Given the description of an element on the screen output the (x, y) to click on. 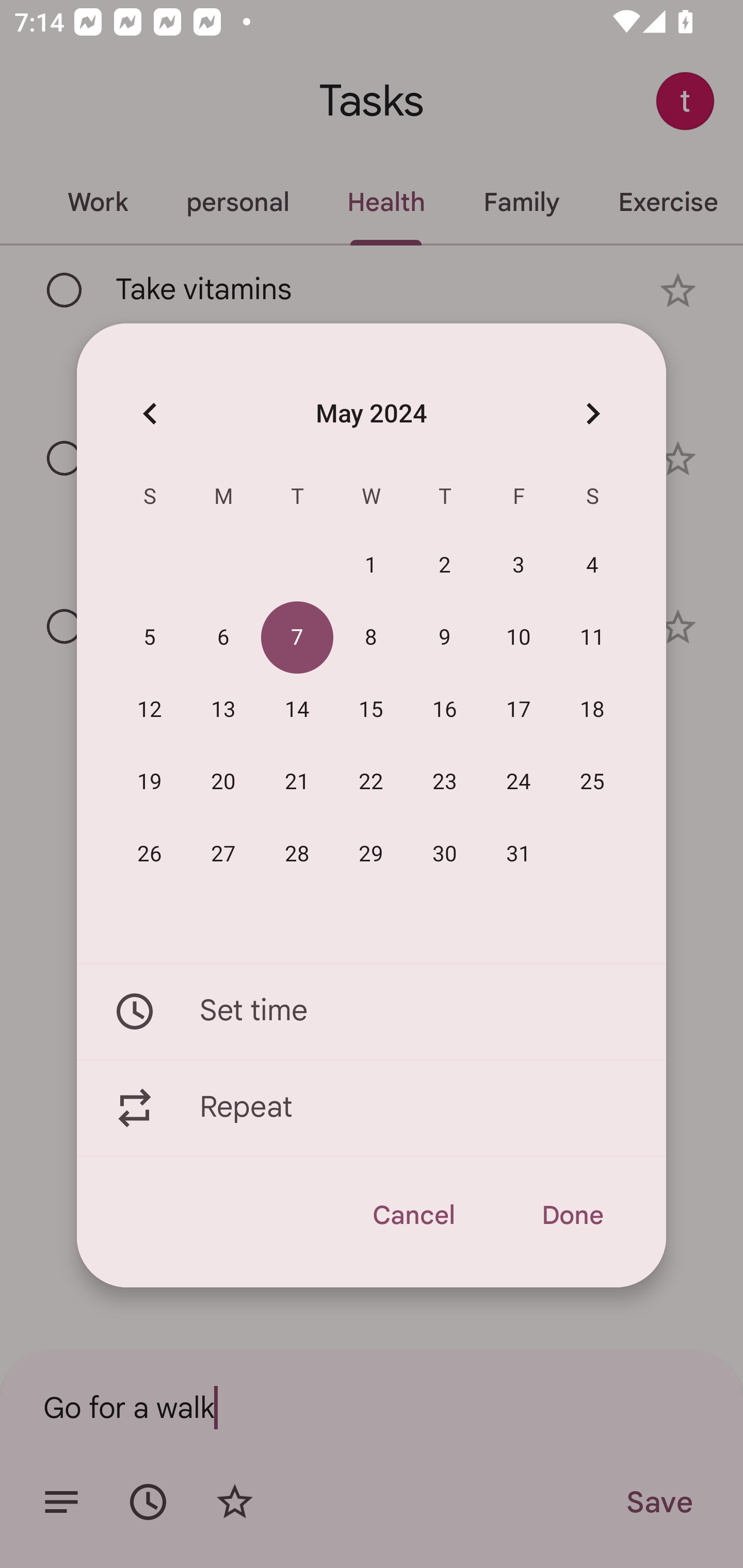
Previous month (149, 413)
Next month (592, 413)
1 01 May 2024 (370, 565)
2 02 May 2024 (444, 565)
3 03 May 2024 (518, 565)
4 04 May 2024 (592, 565)
5 05 May 2024 (149, 638)
6 06 May 2024 (223, 638)
7 07 May 2024 (297, 638)
8 08 May 2024 (370, 638)
9 09 May 2024 (444, 638)
10 10 May 2024 (518, 638)
11 11 May 2024 (592, 638)
12 12 May 2024 (149, 710)
13 13 May 2024 (223, 710)
14 14 May 2024 (297, 710)
15 15 May 2024 (370, 710)
16 16 May 2024 (444, 710)
17 17 May 2024 (518, 710)
18 18 May 2024 (592, 710)
19 19 May 2024 (149, 782)
20 20 May 2024 (223, 782)
21 21 May 2024 (297, 782)
22 22 May 2024 (370, 782)
23 23 May 2024 (444, 782)
24 24 May 2024 (518, 782)
25 25 May 2024 (592, 782)
26 26 May 2024 (149, 854)
27 27 May 2024 (223, 854)
28 28 May 2024 (297, 854)
29 29 May 2024 (370, 854)
30 30 May 2024 (444, 854)
31 31 May 2024 (518, 854)
Set time (371, 1011)
Repeat (371, 1108)
Cancel (412, 1215)
Done (571, 1215)
